Given the description of an element on the screen output the (x, y) to click on. 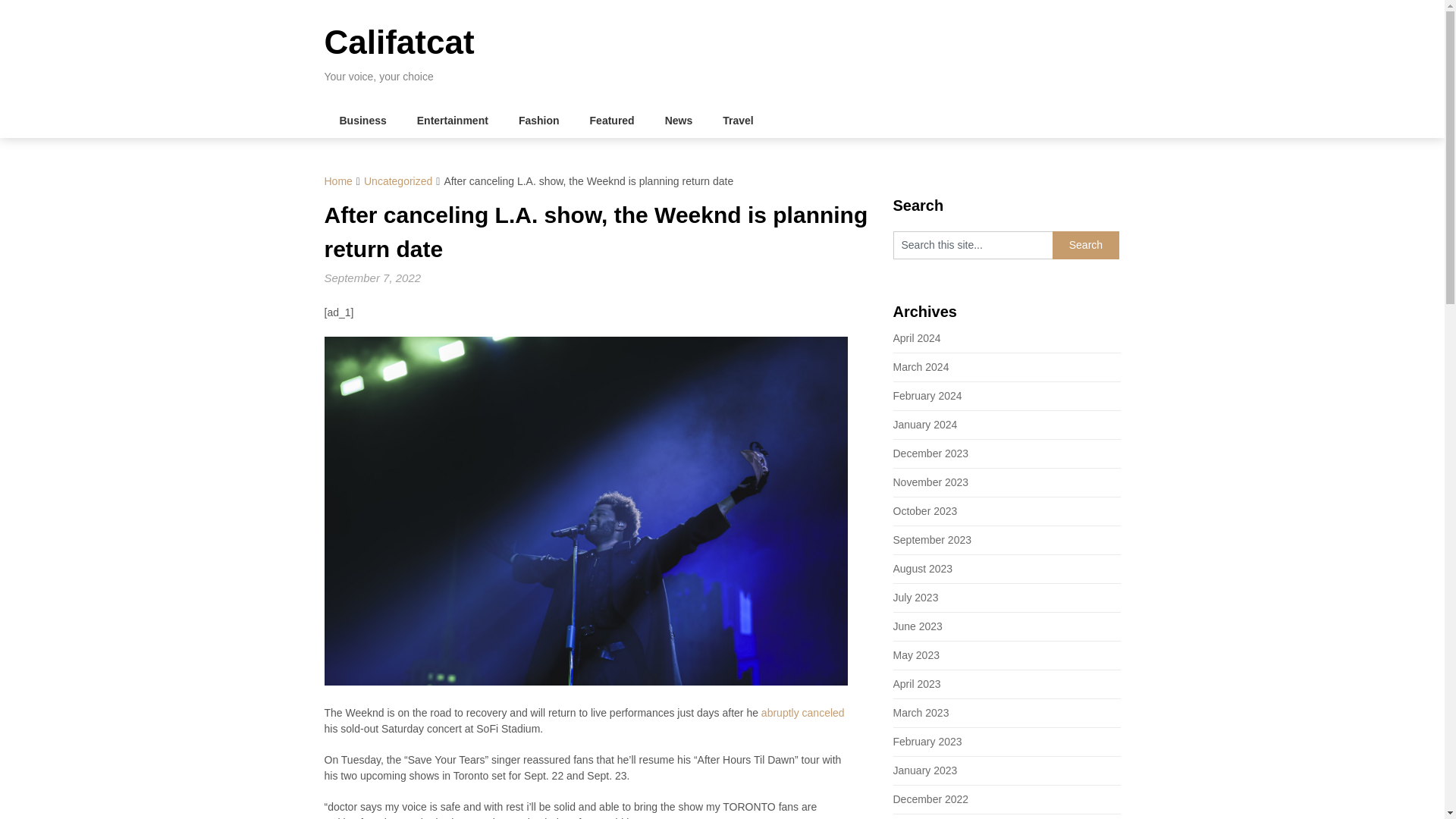
December 2022 (931, 799)
June 2023 (917, 625)
Home (338, 181)
July 2023 (916, 597)
April 2023 (916, 684)
January 2024 (925, 424)
January 2023 (925, 770)
March 2024 (921, 367)
Search (1085, 244)
Califatcat (399, 41)
